Given the description of an element on the screen output the (x, y) to click on. 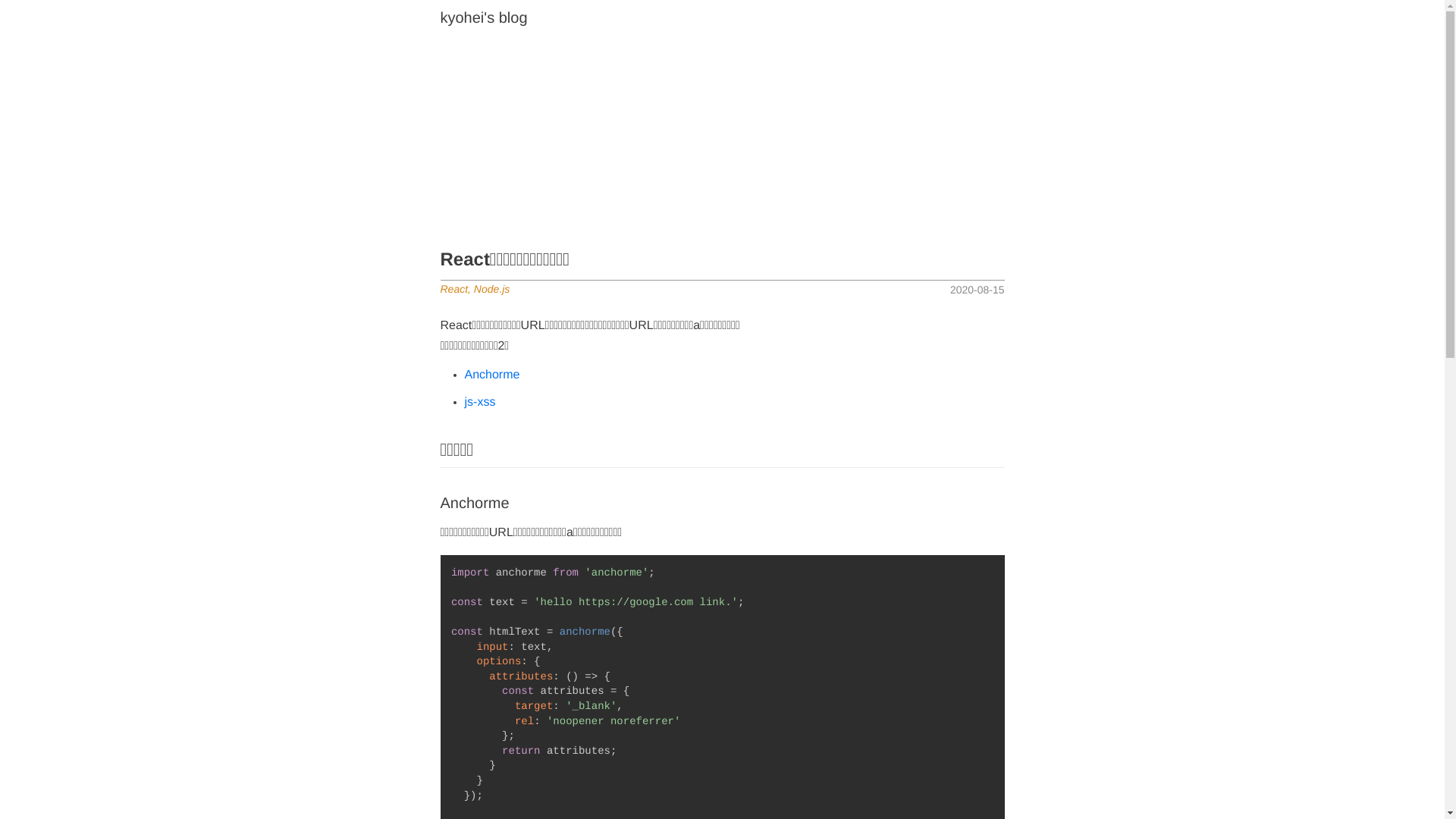
kyohei's blog Element type: text (483, 17)
Anchorme Element type: text (721, 503)
js-xss Element type: text (479, 401)
Anchorme Element type: text (491, 374)
